Given the description of an element on the screen output the (x, y) to click on. 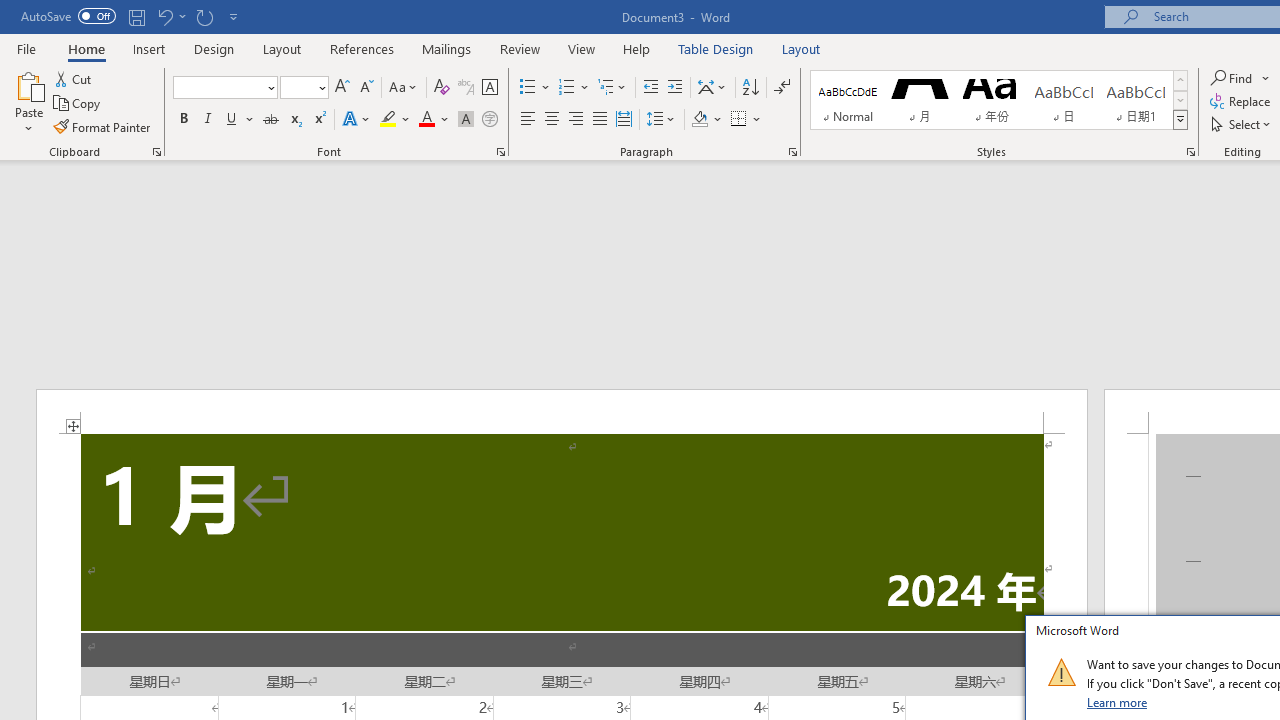
Shading RGB(0, 0, 0) (699, 119)
Cut (73, 78)
Row up (1179, 79)
Numbering (566, 87)
Paste (28, 84)
Bold (183, 119)
Open (320, 87)
Office Clipboard... (156, 151)
Font Size (297, 87)
AutomationID: QuickStylesGallery (999, 99)
Text Effects and Typography (357, 119)
Center (552, 119)
Review (520, 48)
Find (1240, 78)
Replace... (1242, 101)
